Given the description of an element on the screen output the (x, y) to click on. 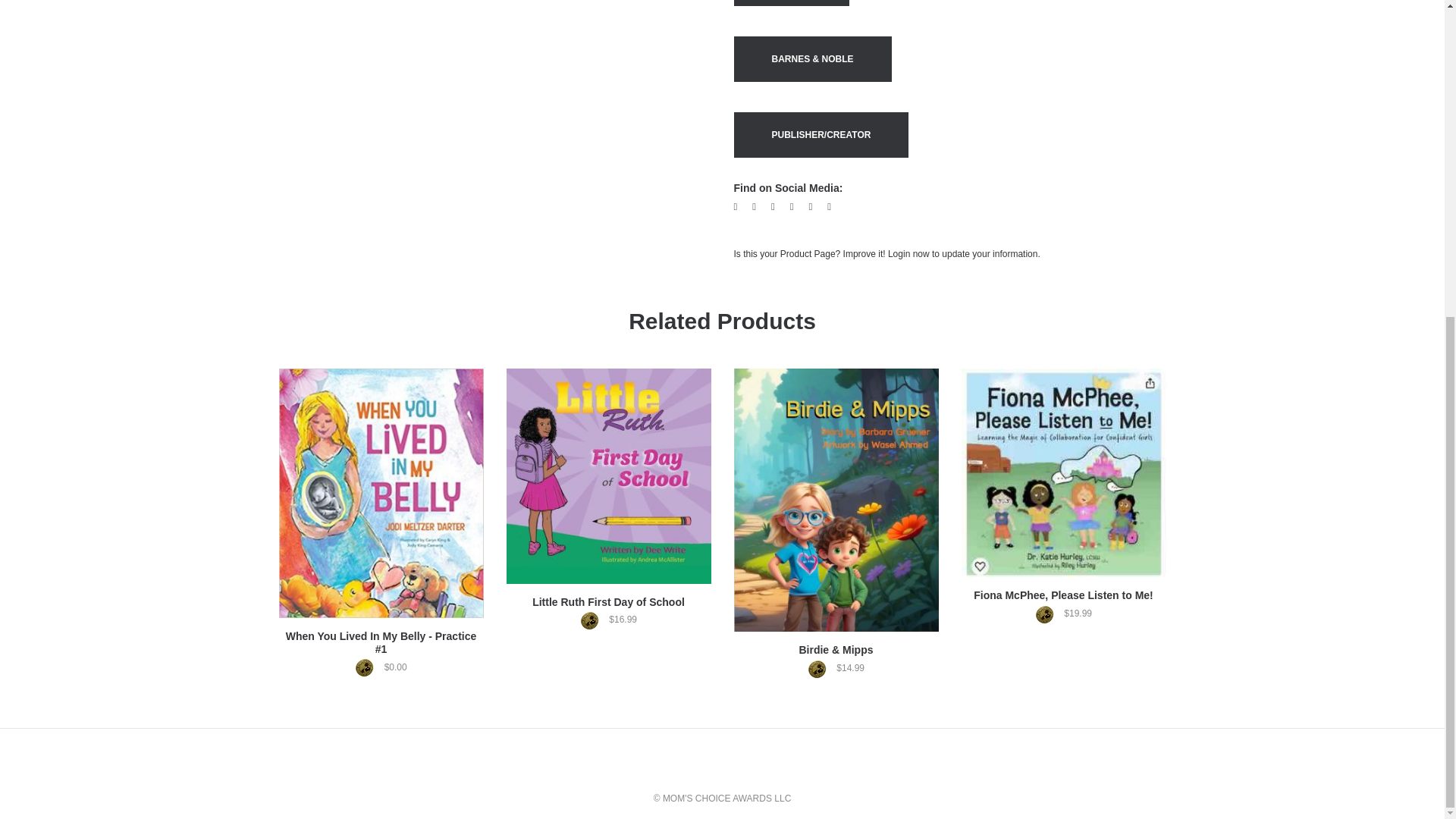
MCA Gold Award (1048, 614)
MCA Gold Award (593, 619)
MCA Gold Award (368, 667)
MCA Gold Award (821, 669)
